Given the description of an element on the screen output the (x, y) to click on. 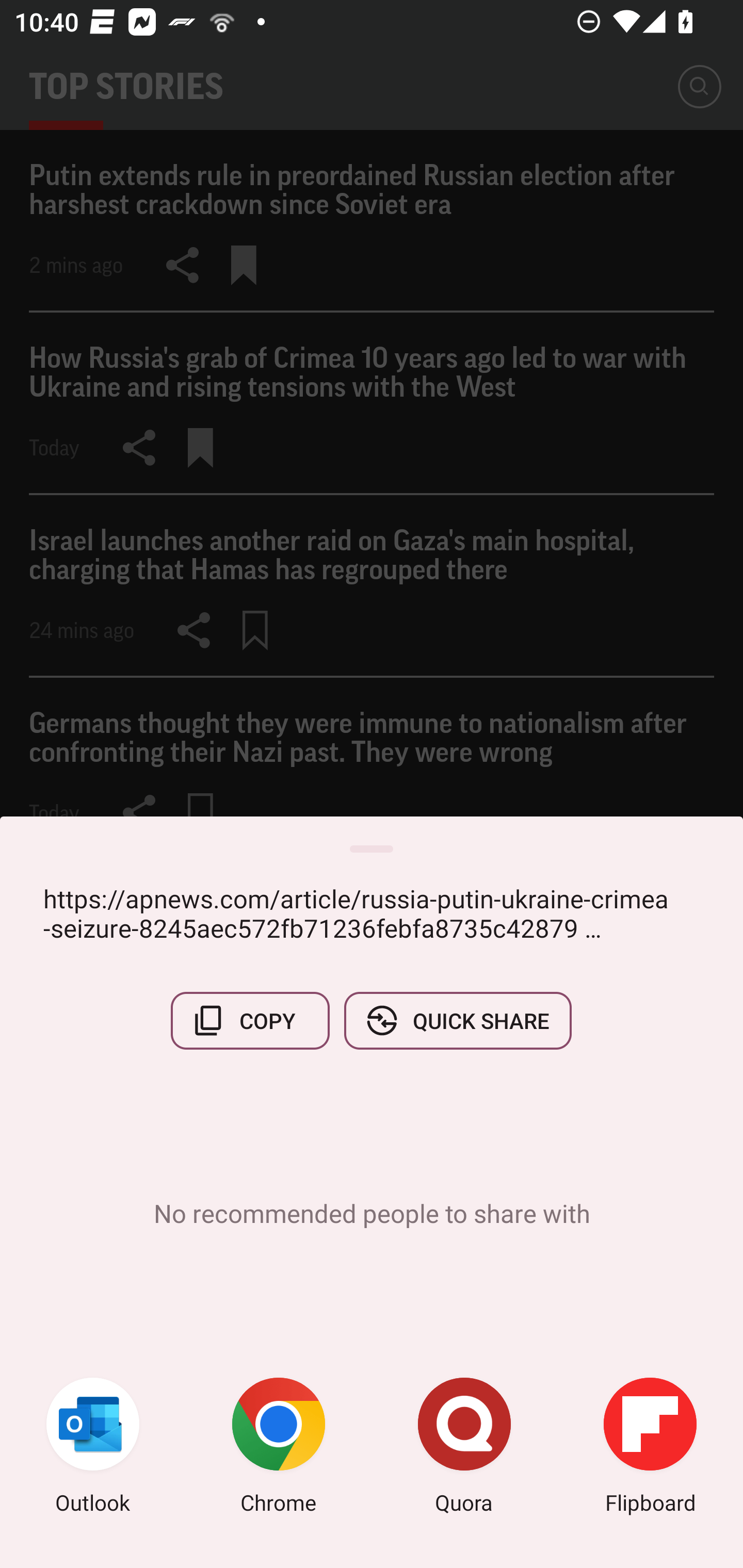
COPY (249, 1020)
QUICK SHARE (457, 1020)
Outlook (92, 1448)
Chrome (278, 1448)
Quora (464, 1448)
Flipboard (650, 1448)
